Given the description of an element on the screen output the (x, y) to click on. 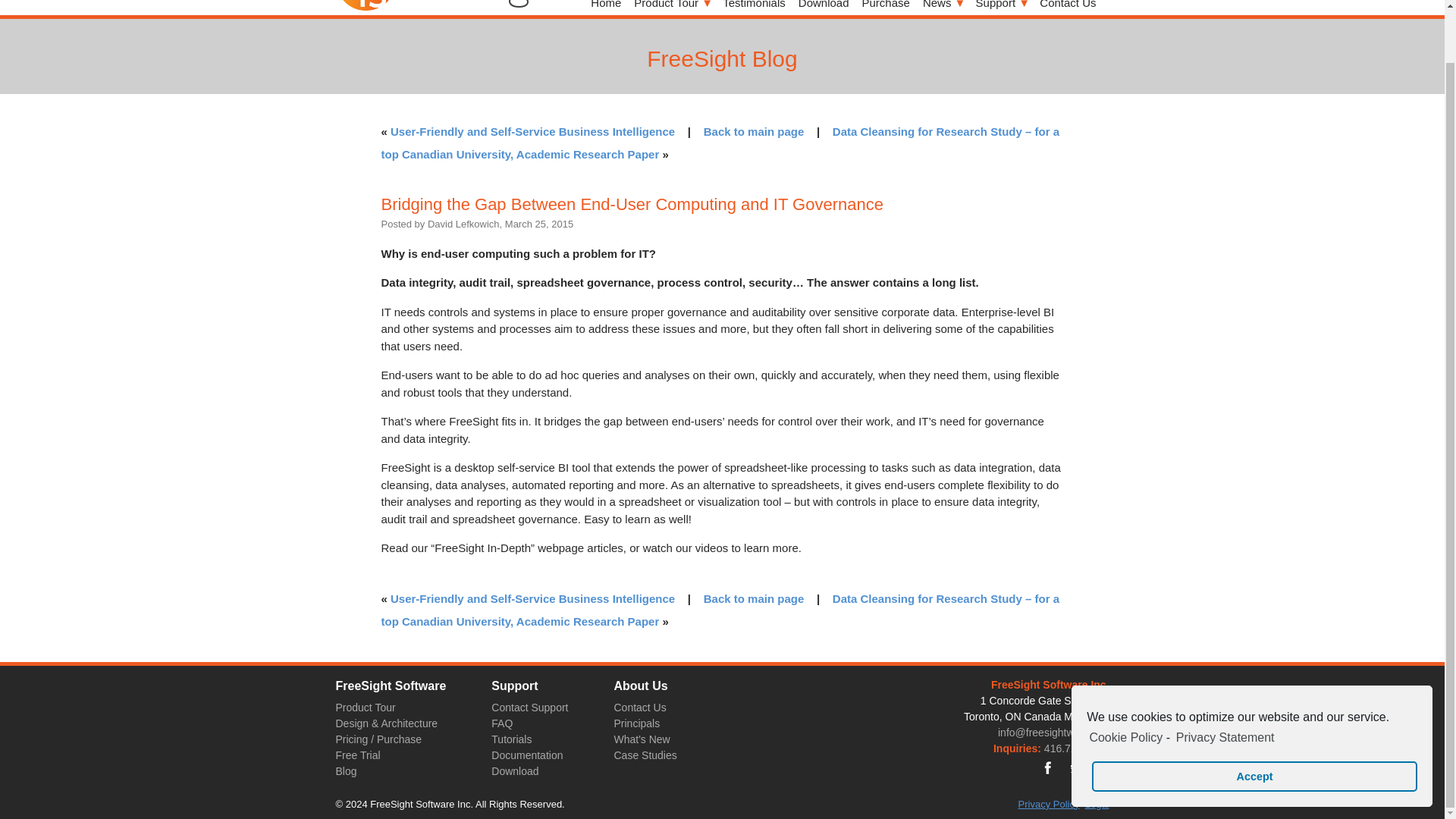
Blog (345, 771)
Home (606, 7)
Purchase (885, 7)
Free Trial (357, 755)
Back to main page (754, 598)
Product Tour (671, 7)
News (942, 7)
Purchase (885, 7)
Documentation (527, 755)
Principals (635, 723)
Support (1001, 7)
Testimonials (754, 7)
Support (1001, 7)
Product Tour (364, 707)
Testimonials (754, 7)
